Given the description of an element on the screen output the (x, y) to click on. 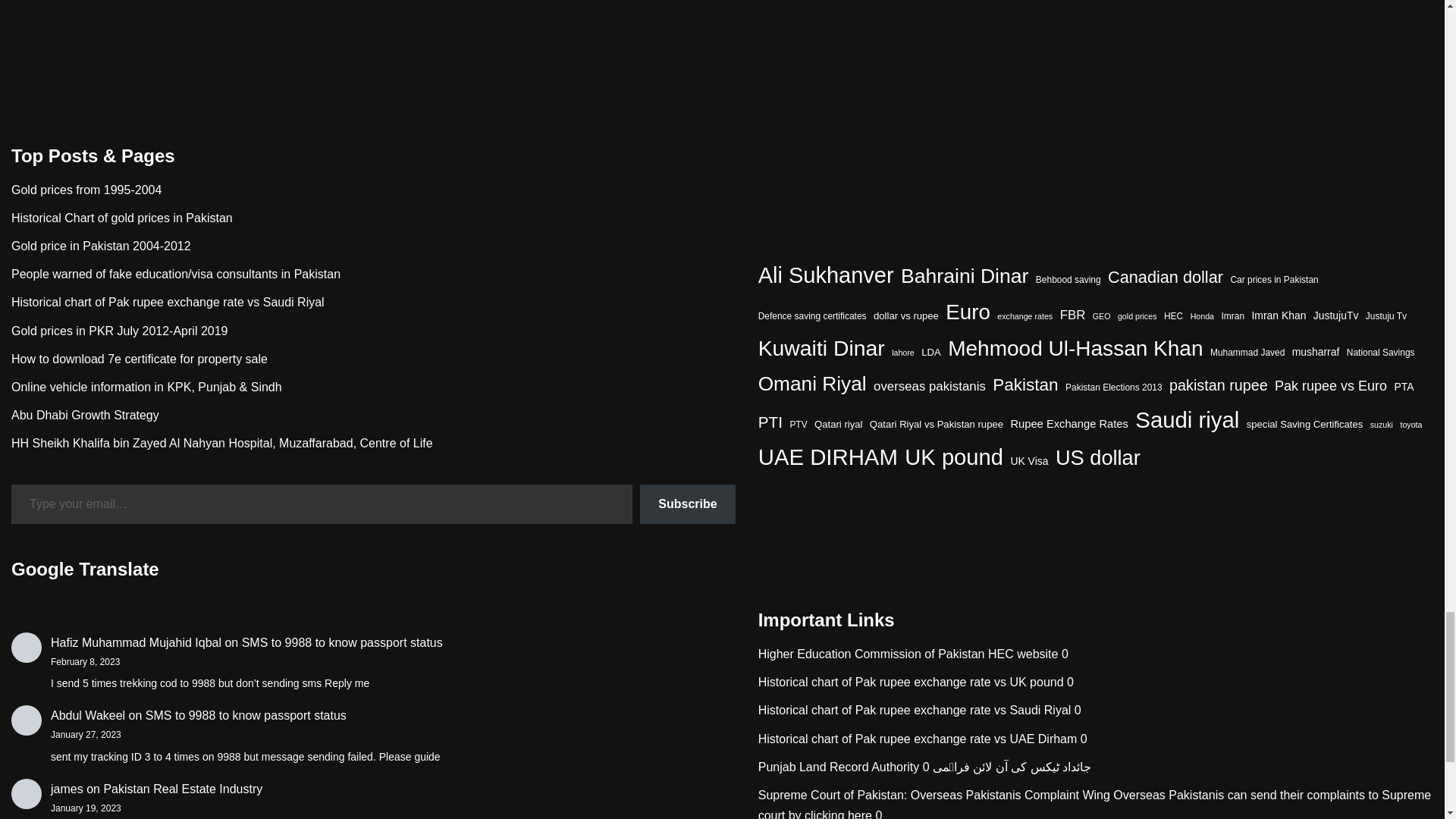
HEC website (871, 653)
Please fill in this field. (321, 504)
Comment Form (721, 33)
